Given the description of an element on the screen output the (x, y) to click on. 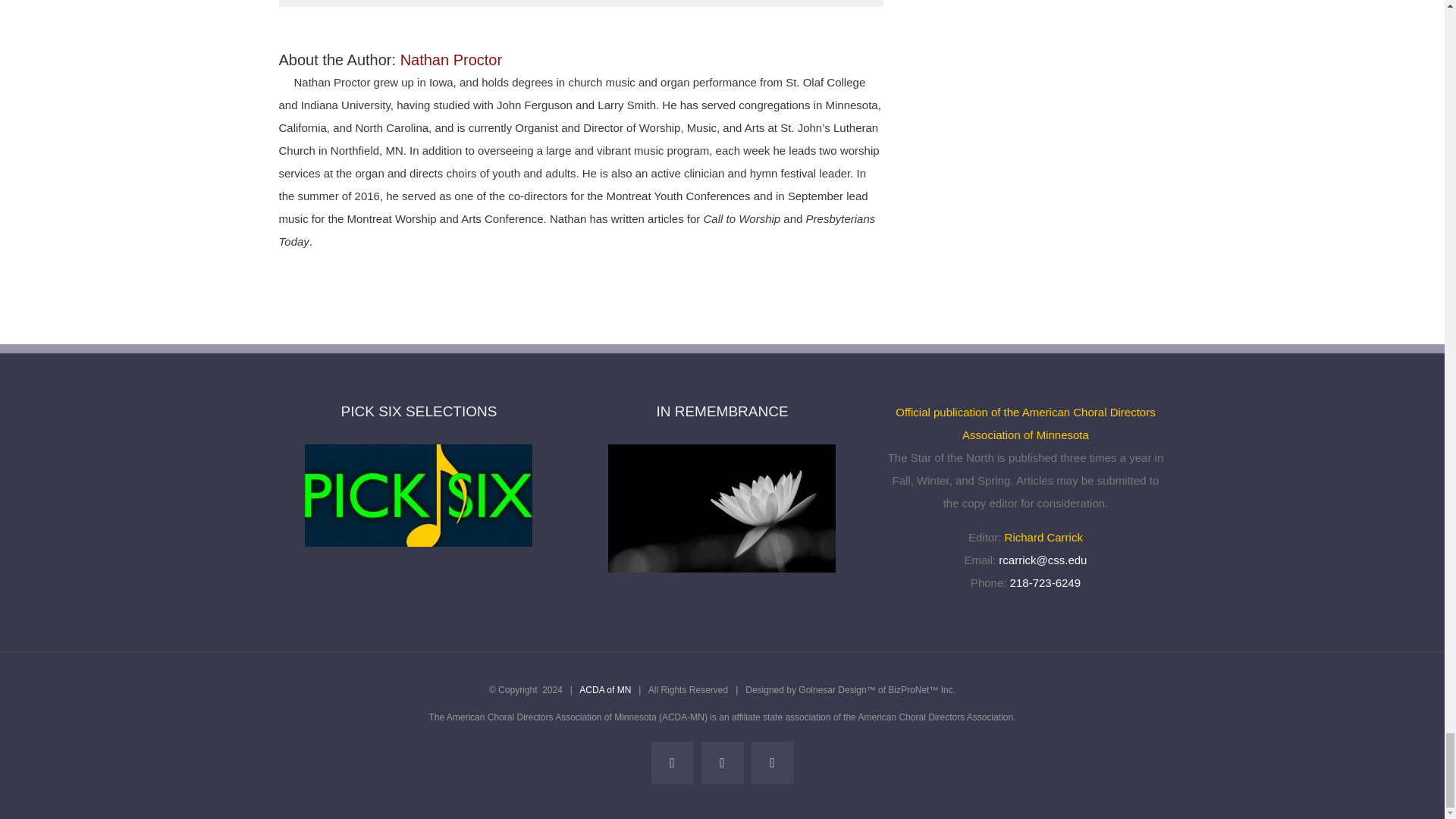
Posts by Nathan Proctor (451, 59)
YouTube (772, 762)
X (721, 762)
Facebook (671, 762)
